Given the description of an element on the screen output the (x, y) to click on. 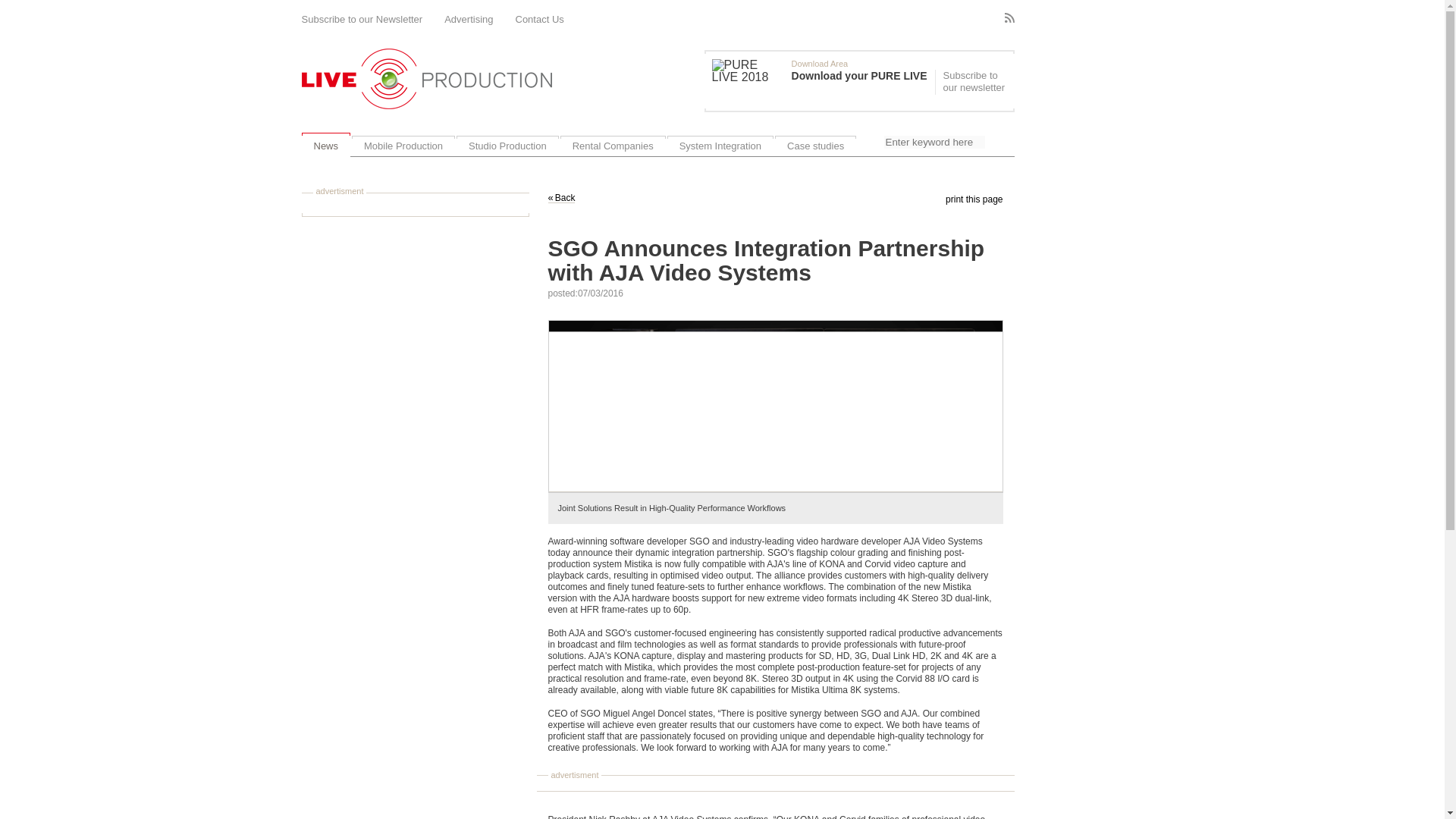
Go (998, 144)
Advertising (468, 19)
RSS (1008, 17)
Publication (822, 80)
PURE LIVE 2018 (747, 70)
Subscribe to our Newsletter (362, 19)
Contact Us (539, 19)
Subscribe to our newsletter (972, 82)
